Given the description of an element on the screen output the (x, y) to click on. 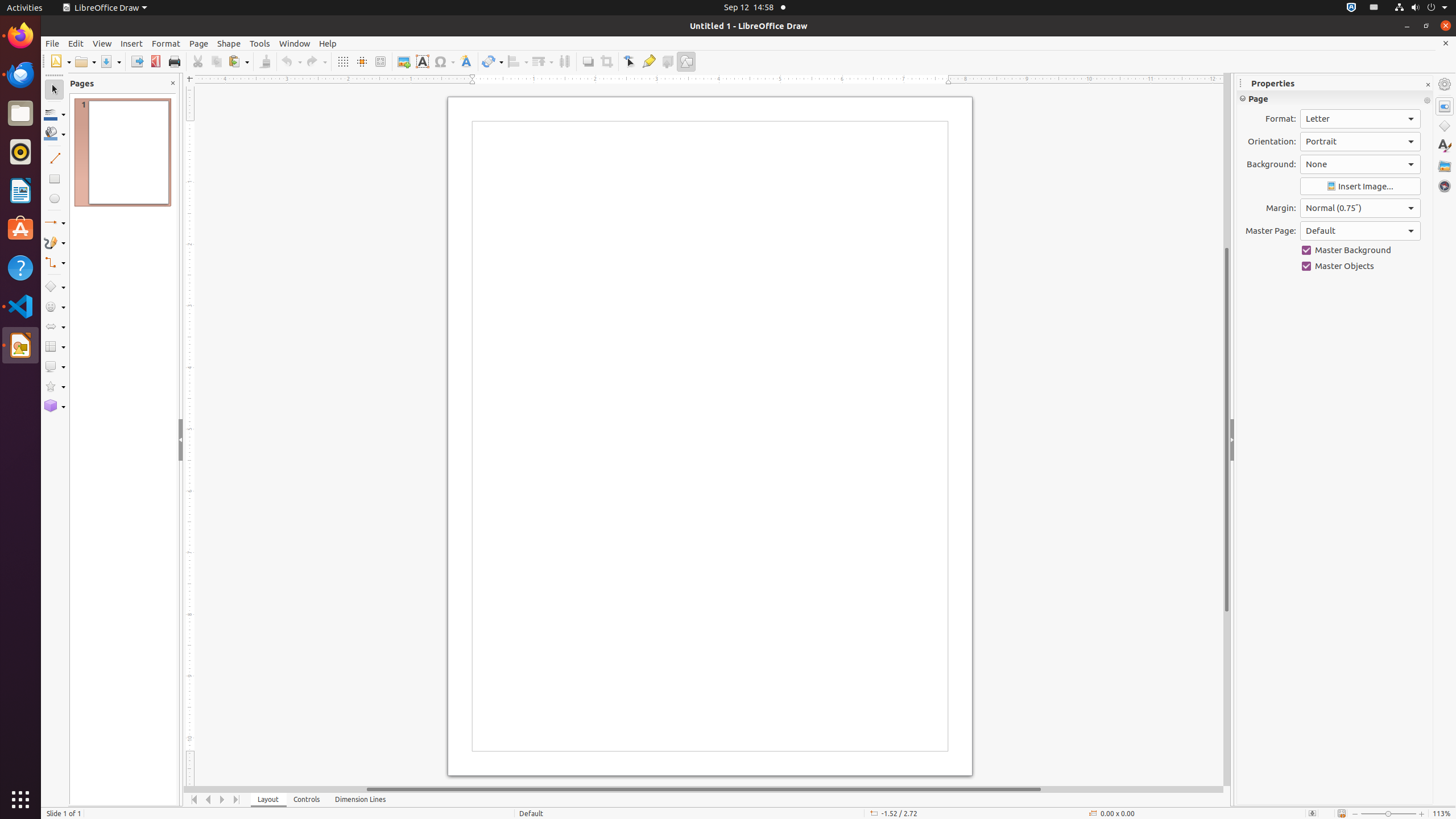
Open Element type: push-button (84, 61)
Grid Element type: toggle-button (342, 61)
Margin: Element type: combo-box (1360, 207)
Gallery Element type: radio-button (1444, 165)
Align Element type: push-button (517, 61)
